Given the description of an element on the screen output the (x, y) to click on. 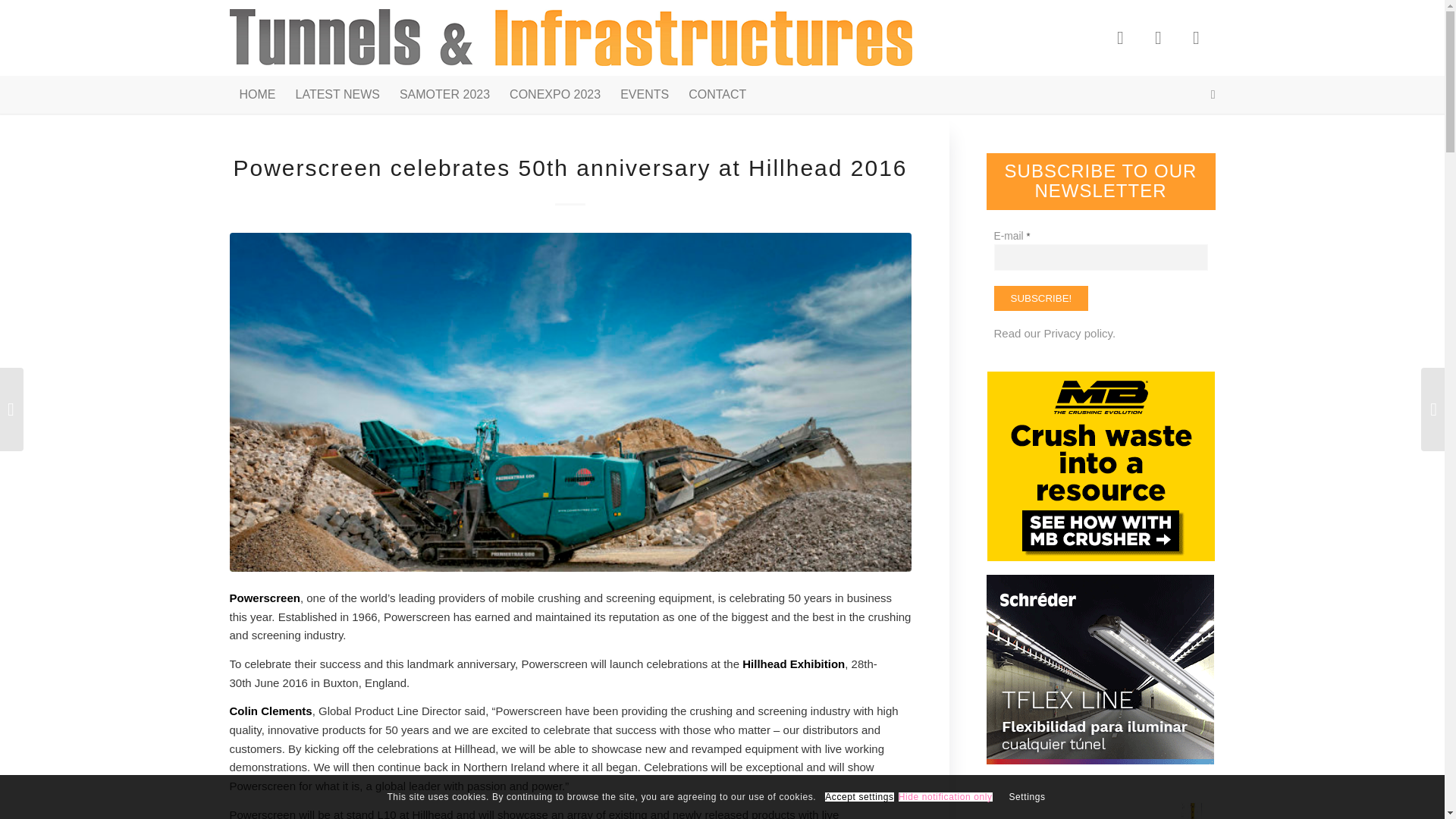
CONEXPO 2023 (554, 94)
Facebook (1119, 37)
CONTACT (716, 94)
EVENTS (644, 94)
Tunnels-logo-2020-2 (569, 38)
SAMOTER 2023 (444, 94)
LATEST NEWS (336, 94)
Twitter (1158, 37)
SUBSCRIBE! (1039, 298)
LinkedIn (1196, 37)
HOME (256, 94)
